Given the description of an element on the screen output the (x, y) to click on. 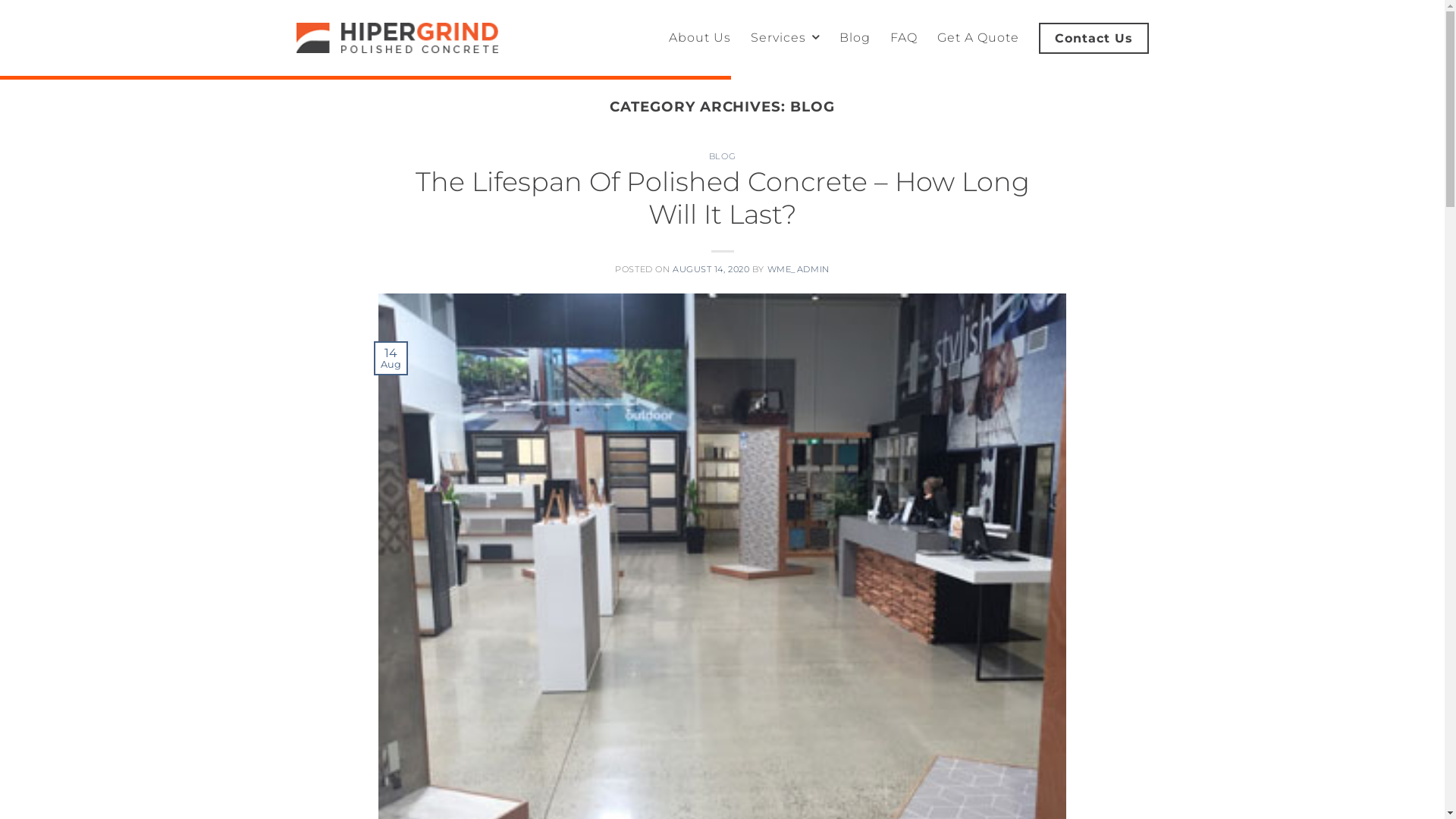
Blog Element type: text (853, 37)
About Us Element type: text (699, 37)
Contact Us Element type: text (1093, 37)
AUGUST 14, 2020 Element type: text (710, 268)
WME_ADMIN Element type: text (798, 268)
Get A Quote Element type: text (978, 37)
Hiper Grind - Hiper Grind Polished Concrete Element type: hover (396, 37)
FAQ Element type: text (903, 37)
BLOG Element type: text (722, 155)
Services Element type: text (784, 37)
